Given the description of an element on the screen output the (x, y) to click on. 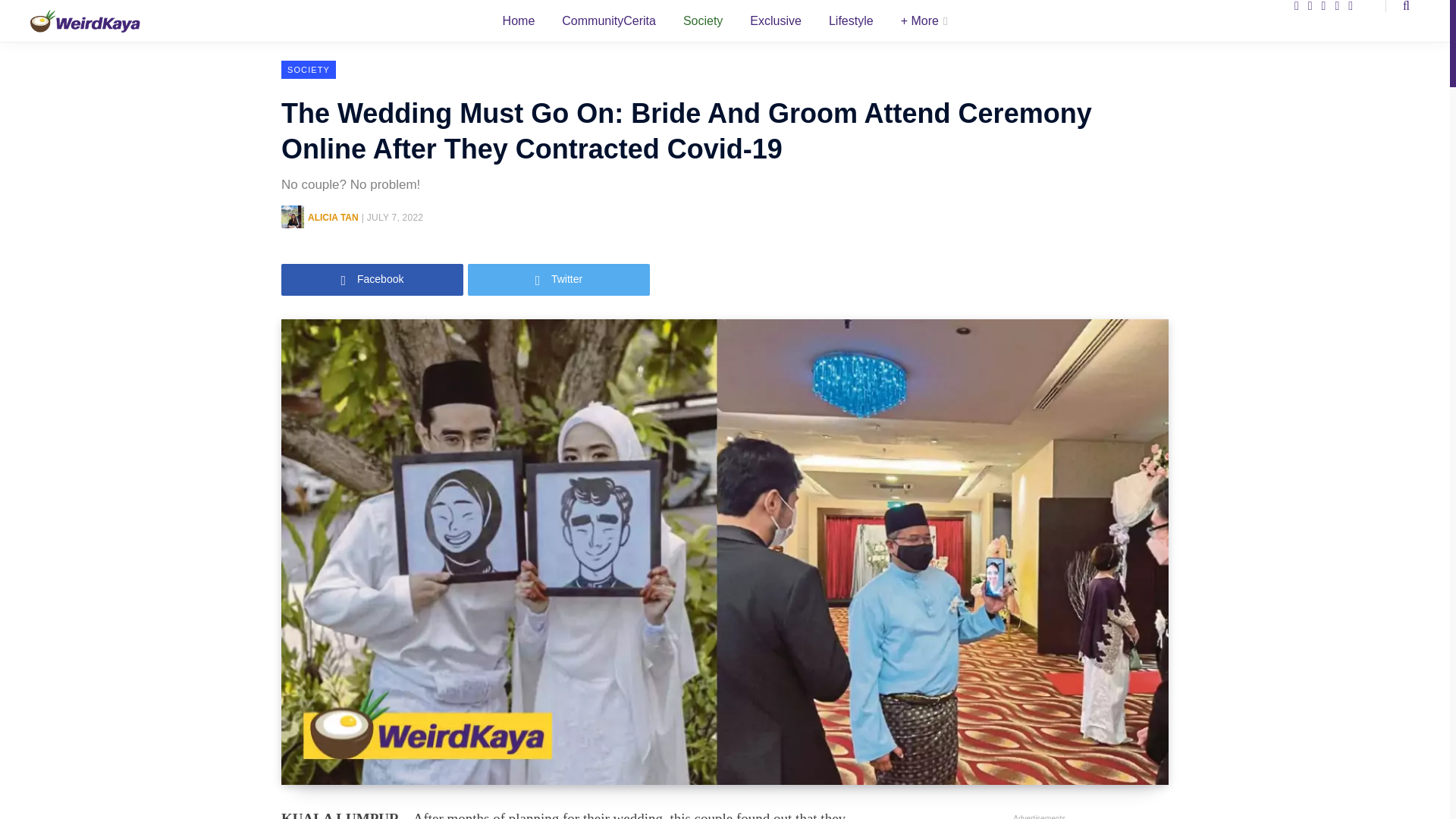
Alicia Tan (332, 217)
WeirdKaya (85, 20)
Lifestyle (850, 21)
Categories (923, 20)
Facebook (372, 278)
ALICIA TAN (332, 217)
SOCIETY (308, 69)
JULY 7, 2022 (394, 217)
Home (518, 24)
Exclusive (775, 21)
Society (702, 22)
Twitter (558, 278)
CommunityCerita (608, 22)
Facebook (372, 278)
